Given the description of an element on the screen output the (x, y) to click on. 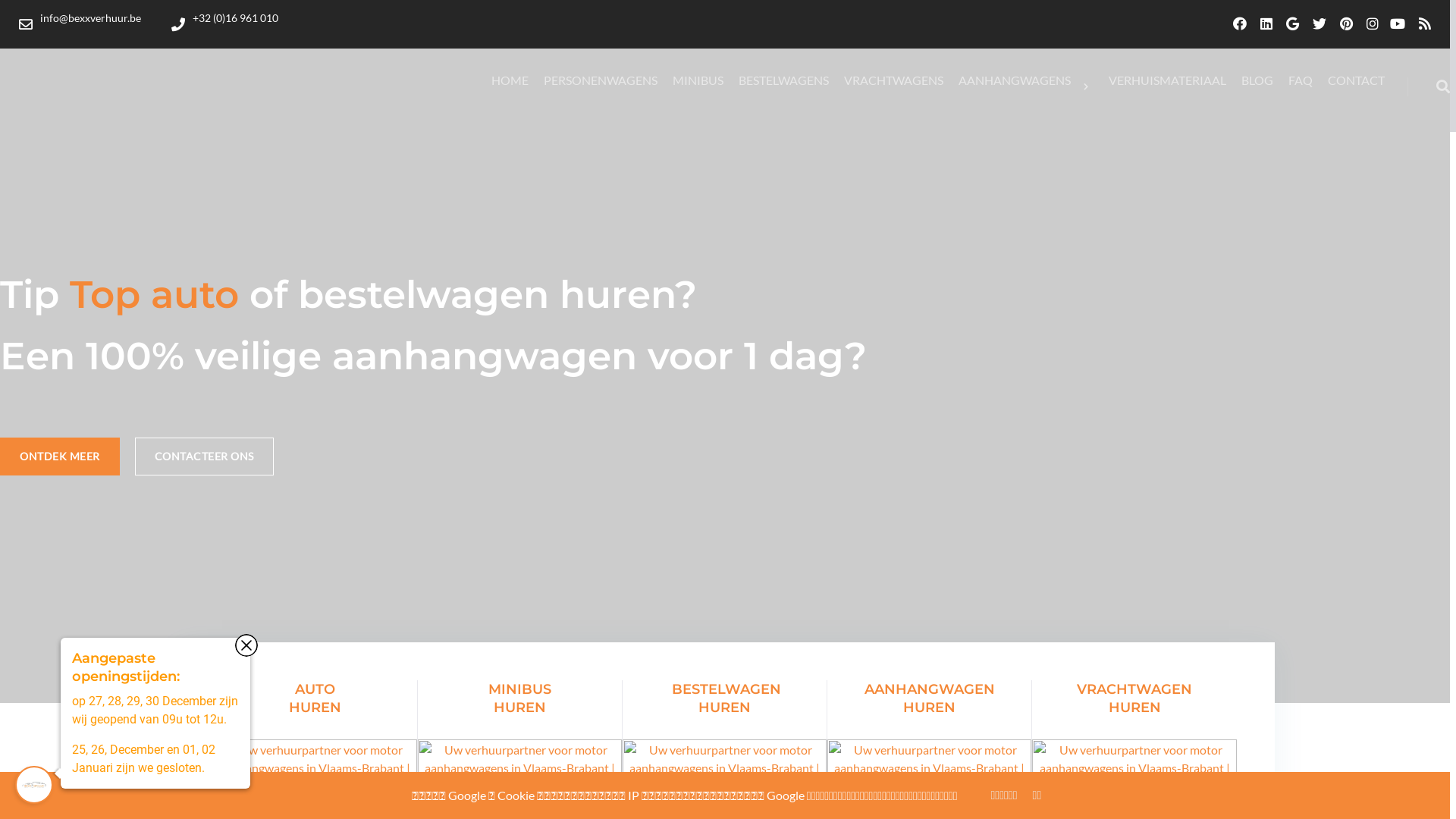
HOME Element type: text (509, 80)
CONTACT Element type: text (1355, 80)
VERHUISMATERIAAL Element type: text (1167, 80)
VRACHTWAGENS Element type: text (893, 80)
AANHANGWAGEN
HUREN Element type: text (929, 746)
MINIBUS Element type: text (697, 80)
CONTACTEER ONS Element type: text (203, 455)
BLOG Element type: text (1257, 80)
+32 (0)16 961 010 Element type: text (224, 24)
AUTO
HUREN Element type: text (315, 746)
ONTDEK MEER Element type: text (59, 455)
AANHANGWAGENS Element type: text (1025, 86)
PERSONENWAGENS Element type: text (600, 80)
BESTELWAGENS Element type: text (783, 80)
VRACHTWAGEN
HUREN Element type: text (1134, 746)
FAQ Element type: text (1300, 80)
MINIBUS
HUREN Element type: text (519, 746)
 BESTELWAGEN
HUREN Element type: text (724, 746)
info@bexxverhuur.be Element type: text (79, 24)
